Given the description of an element on the screen output the (x, y) to click on. 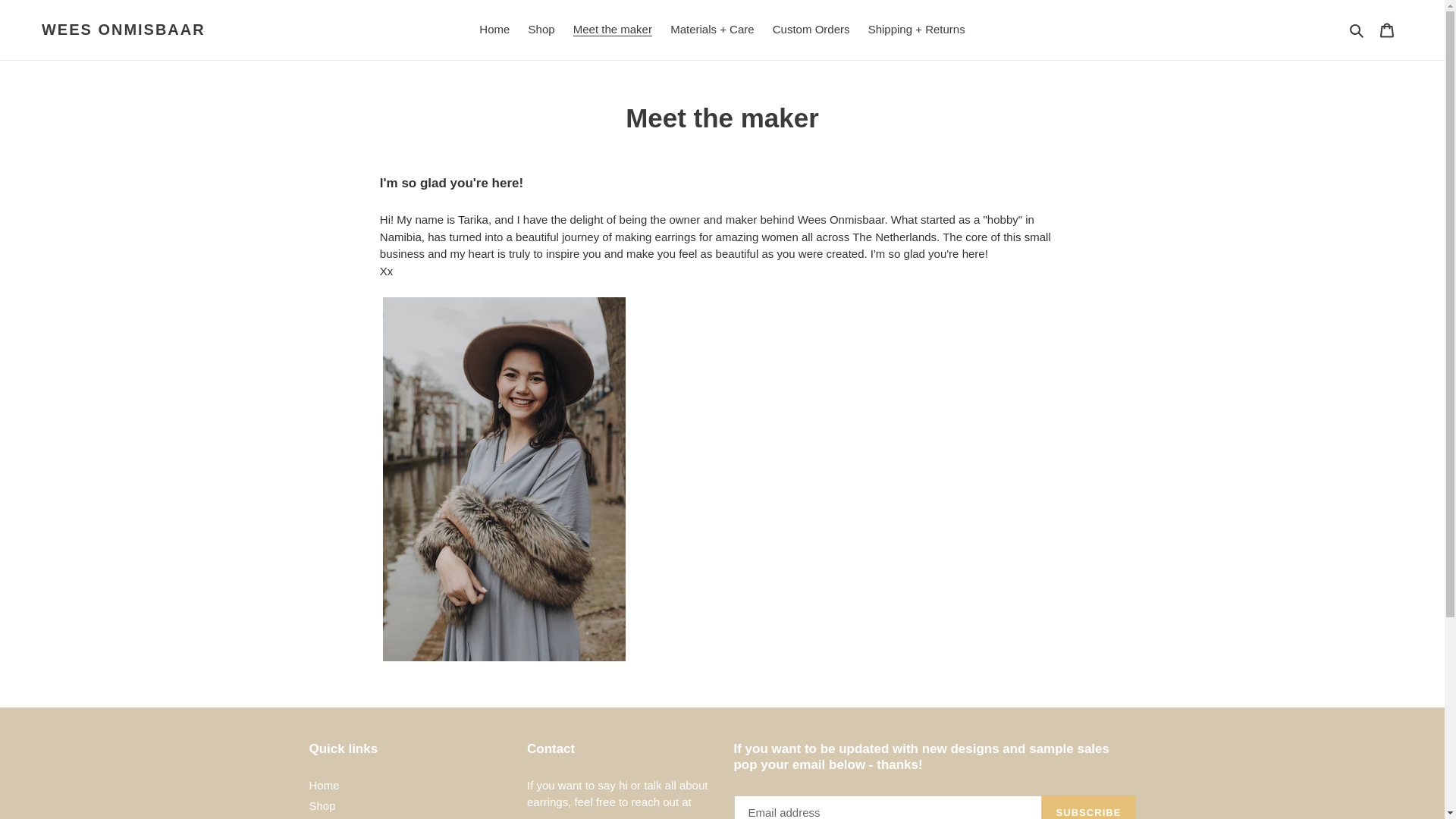
Shop (541, 29)
Search (1357, 29)
Home (493, 29)
Shop (322, 805)
Custom Orders (811, 29)
Meet the maker (612, 29)
SUBSCRIBE (1088, 807)
WEES ONMISBAAR (123, 29)
Home (323, 784)
Cart (1387, 29)
